Given the description of an element on the screen output the (x, y) to click on. 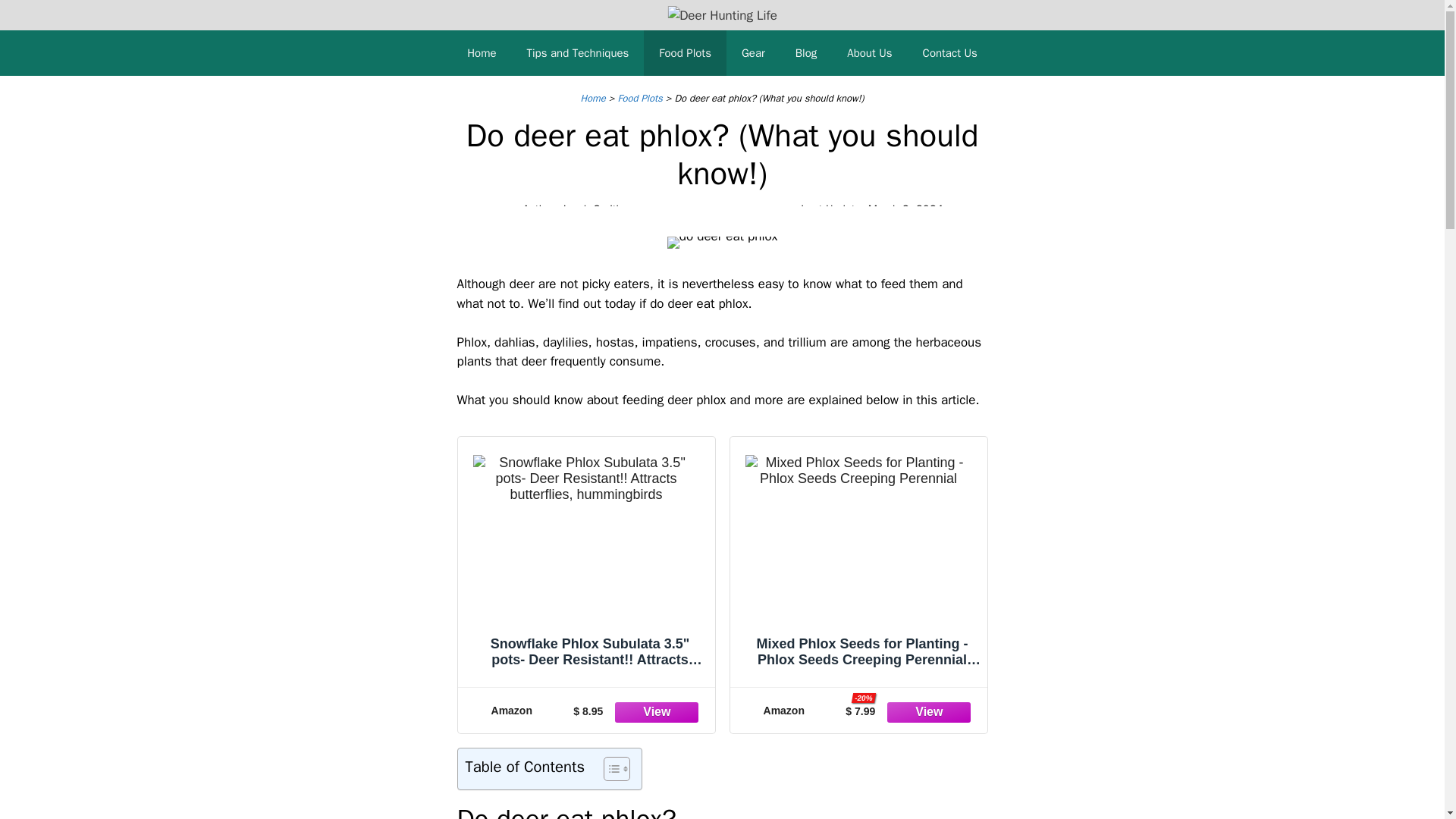
Blog (805, 53)
Food Plots (639, 97)
Gear (753, 53)
About Us (869, 53)
Tips and Techniques (578, 53)
Home (592, 97)
Food Plots (684, 53)
Home (481, 53)
Contact Us (949, 53)
